Given the description of an element on the screen output the (x, y) to click on. 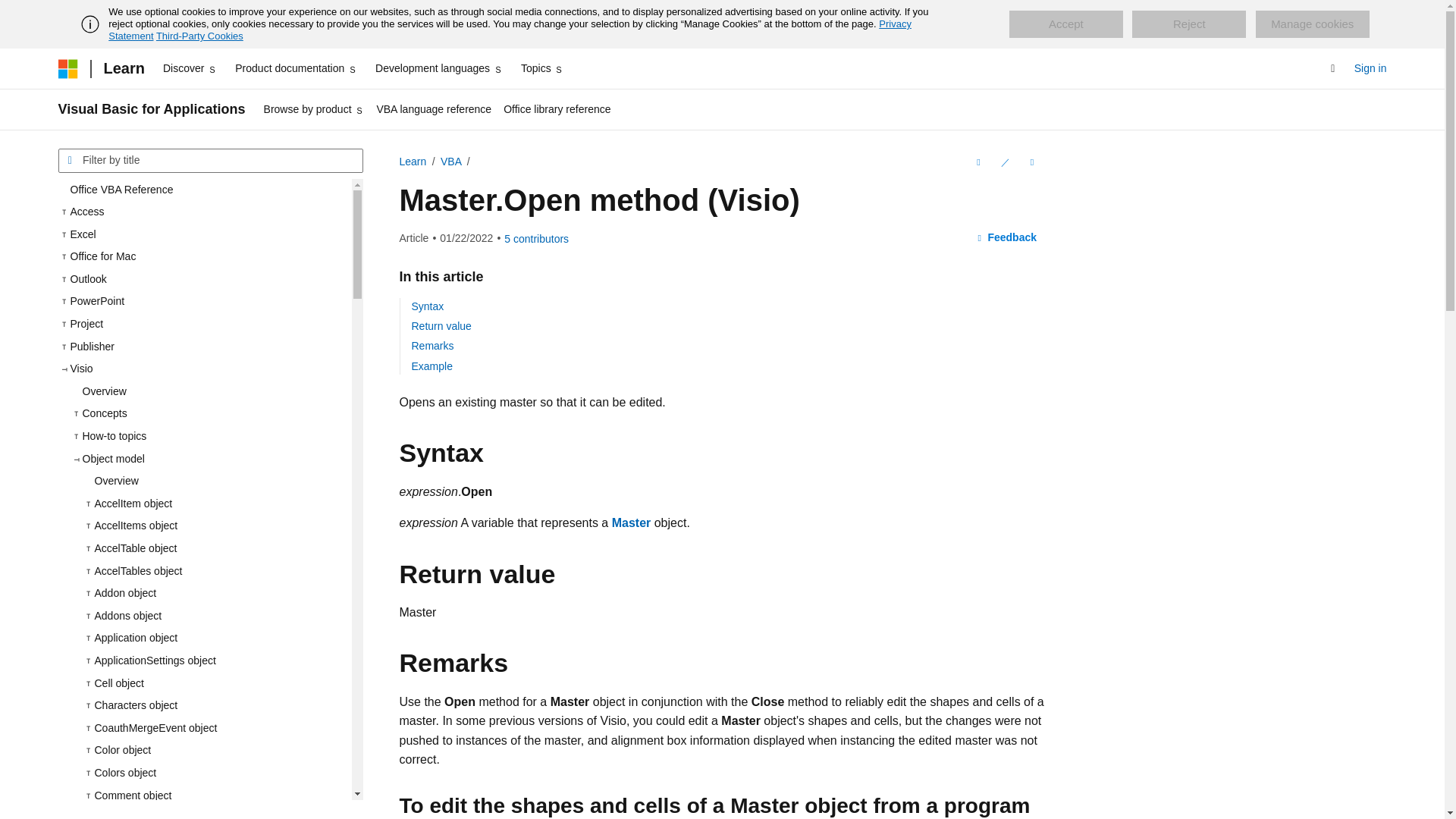
Office library reference (556, 109)
Accept (1065, 23)
Privacy Statement (509, 29)
VBA language reference (433, 109)
Skip to main content (11, 11)
Sign in (1370, 68)
Third-Party Cookies (199, 35)
Edit This Document (1004, 161)
Manage cookies (1312, 23)
Browse by product (314, 109)
Topics (542, 68)
View all contributors (536, 238)
Visual Basic for Applications (151, 109)
Learn (123, 68)
Development languages (438, 68)
